Given the description of an element on the screen output the (x, y) to click on. 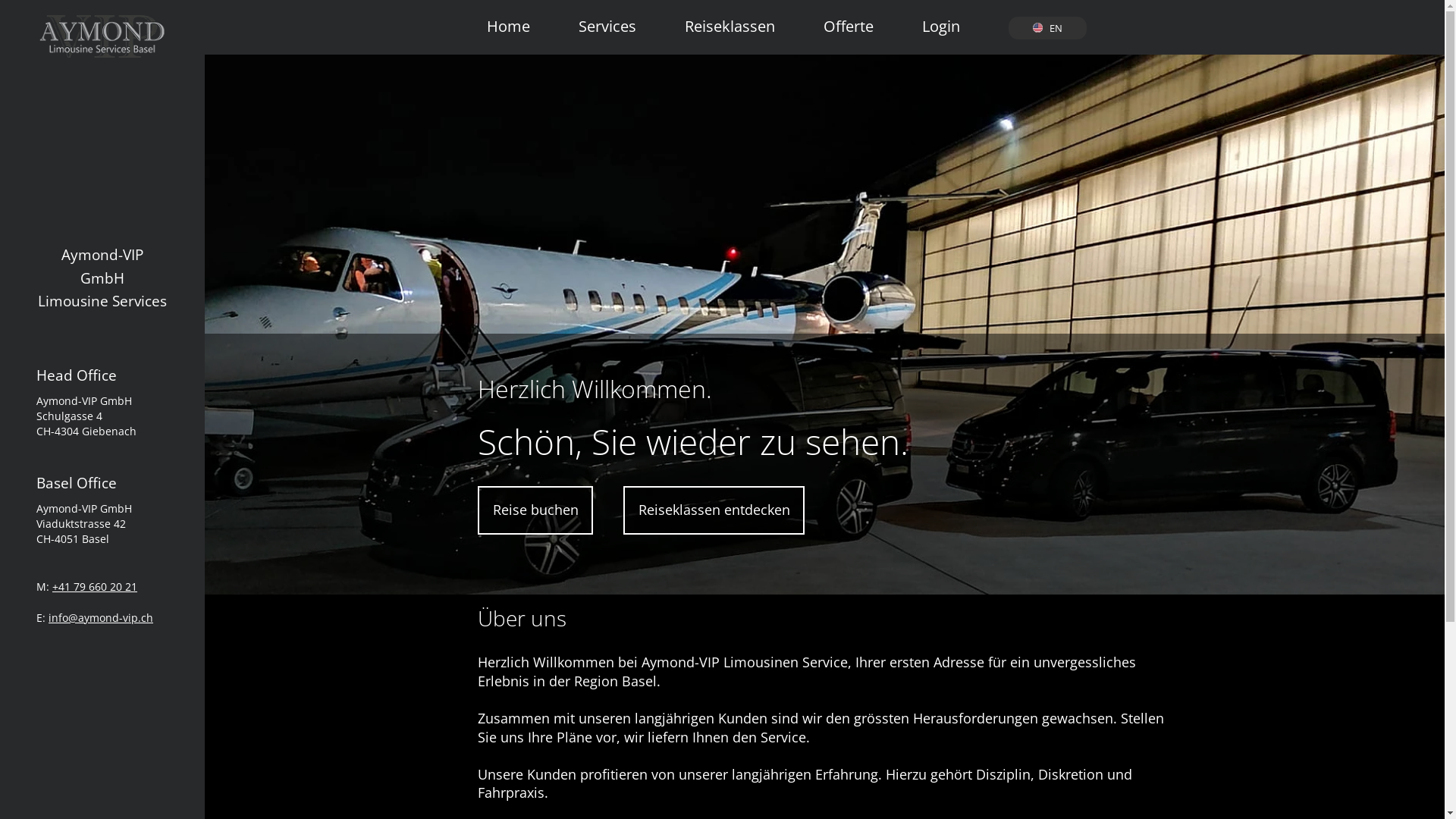
Services Element type: text (607, 18)
EN Element type: text (1046, 28)
Home Element type: text (508, 18)
Reise buchen Element type: text (535, 510)
+41 79 660 20 21 Element type: text (94, 586)
Offerte Element type: text (848, 18)
info@aymond-vip.ch Element type: text (100, 617)
Login Element type: text (941, 18)
Reiseklassen Element type: text (729, 18)
Reiseklassen entdecken Element type: text (713, 510)
